Given the description of an element on the screen output the (x, y) to click on. 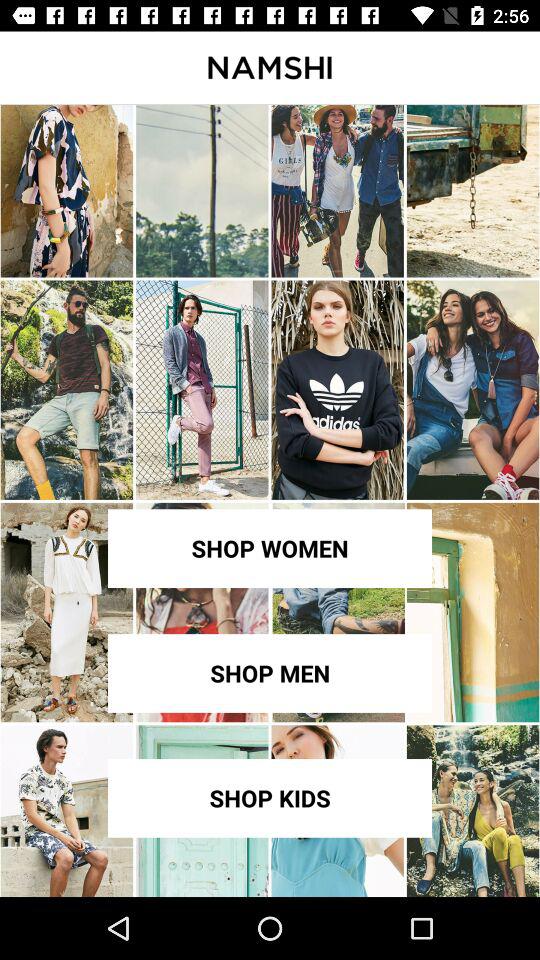
choose the shop kids (270, 797)
